Given the description of an element on the screen output the (x, y) to click on. 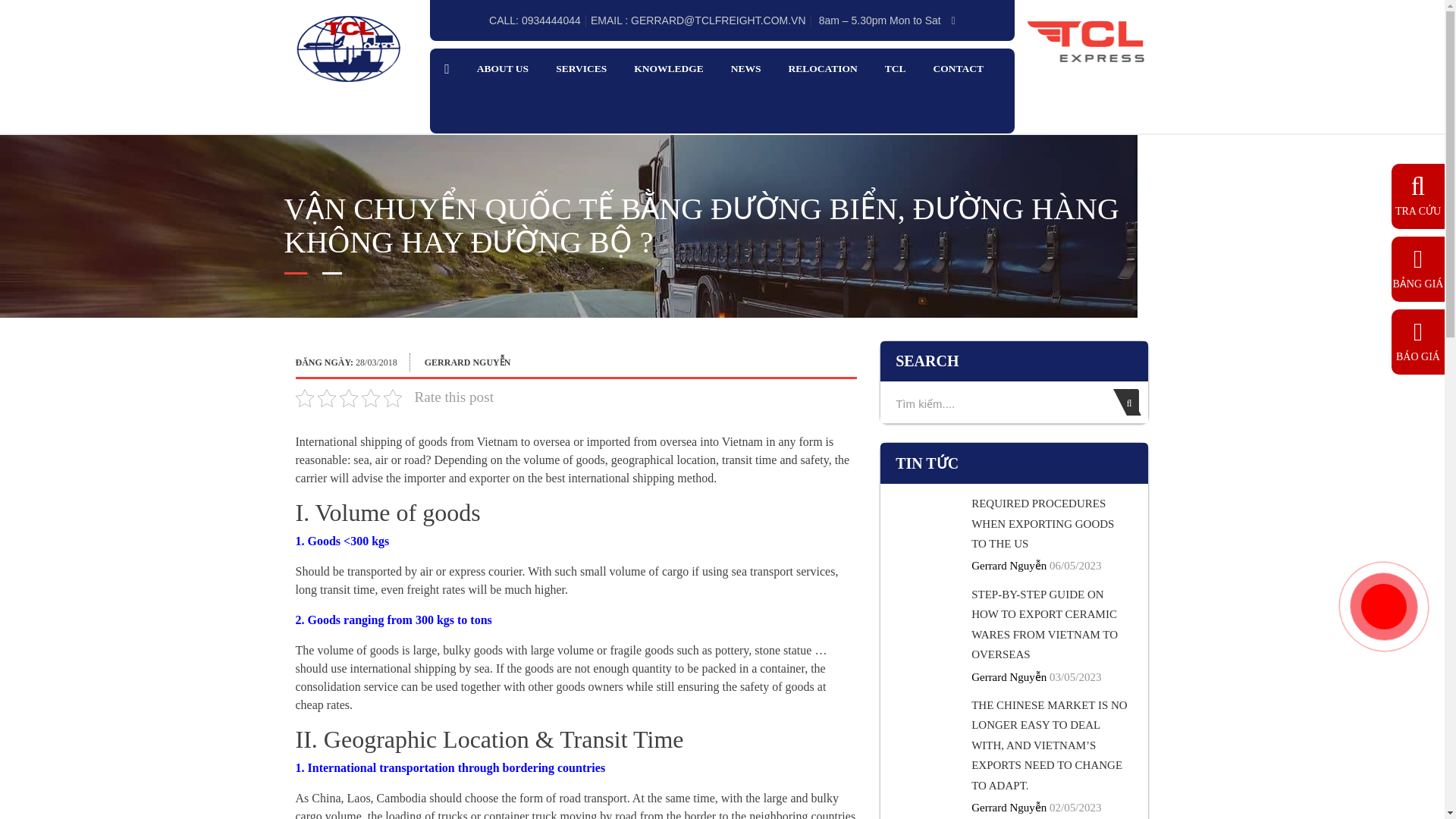
RELOCATION (822, 68)
REQUIRED PROCEDURES WHEN EXPORTING GOODS TO THE US (1042, 523)
ABOUT US (502, 68)
SERVICES (581, 68)
KNOWLEDGE (668, 68)
NEWS (745, 68)
CONTACT (958, 68)
